Given the description of an element on the screen output the (x, y) to click on. 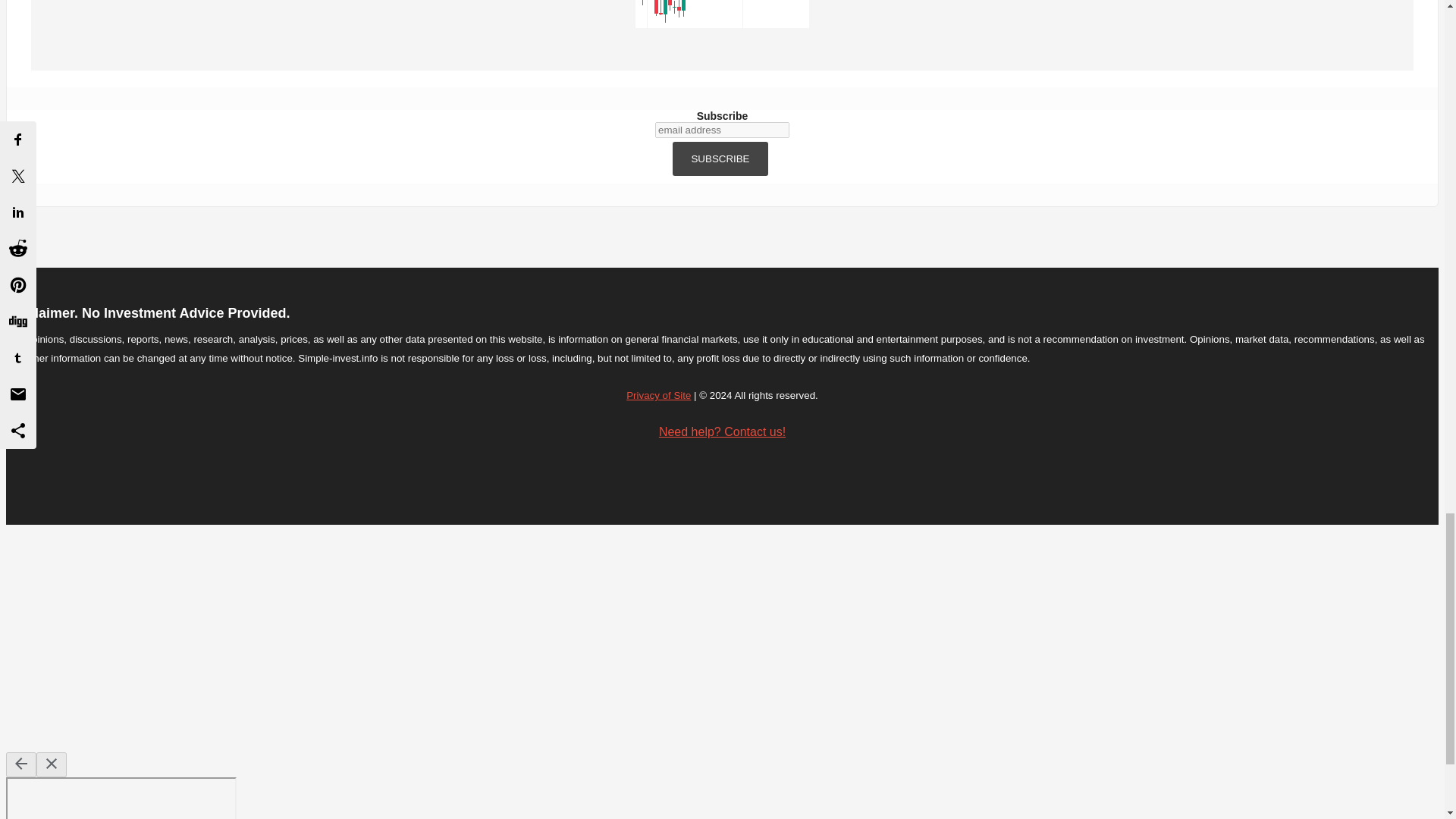
Need help? Contact us! (722, 431)
Subscribe (719, 158)
Privacy of Site (658, 395)
Subscribe (719, 158)
